Given the description of an element on the screen output the (x, y) to click on. 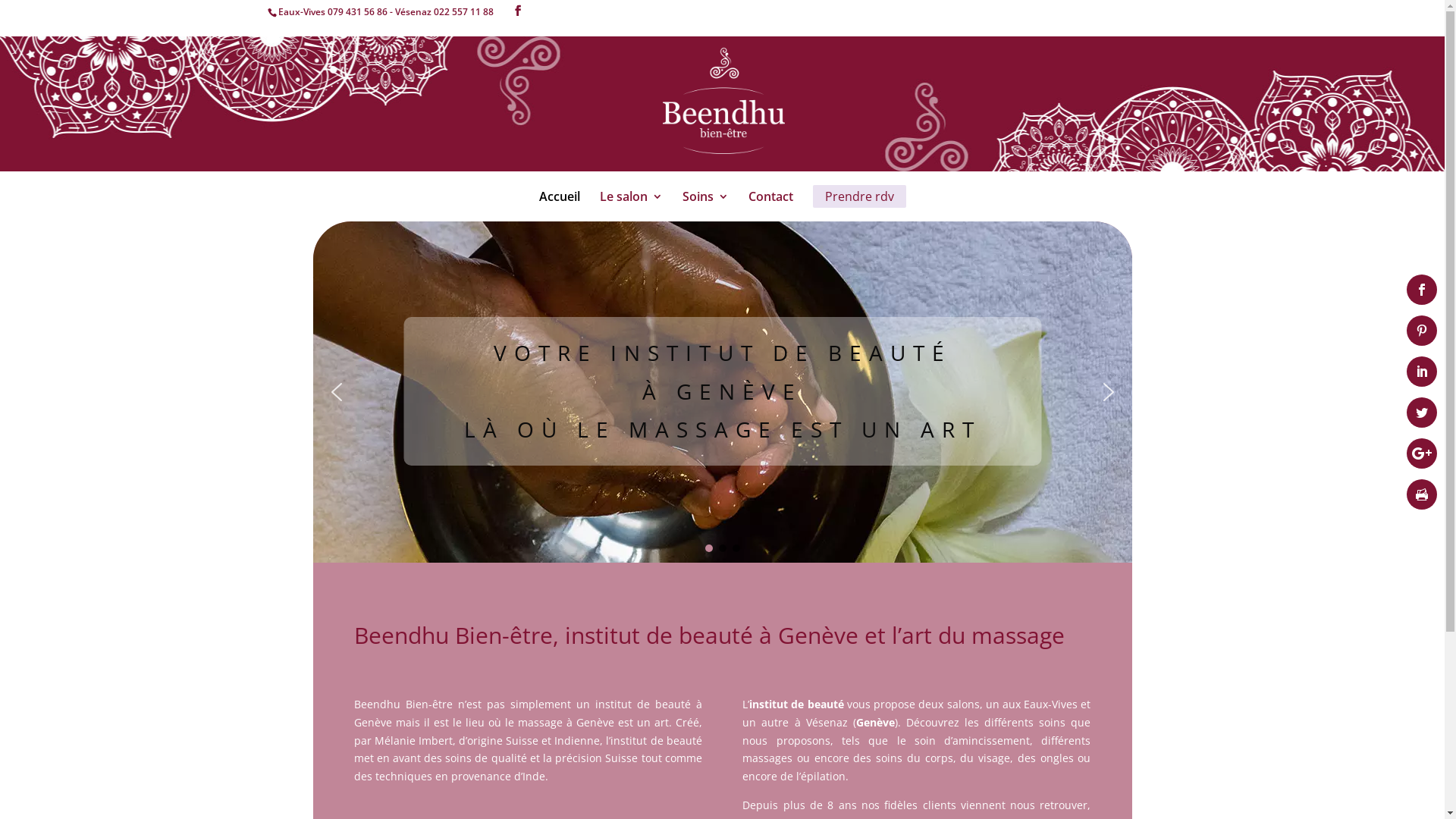
Soins Element type: text (705, 206)
Prendre rdv Element type: text (859, 207)
Contact Element type: text (769, 206)
Accueil Element type: text (558, 206)
Prendre rdv Element type: text (859, 196)
Le salon Element type: text (630, 206)
